Given the description of an element on the screen output the (x, y) to click on. 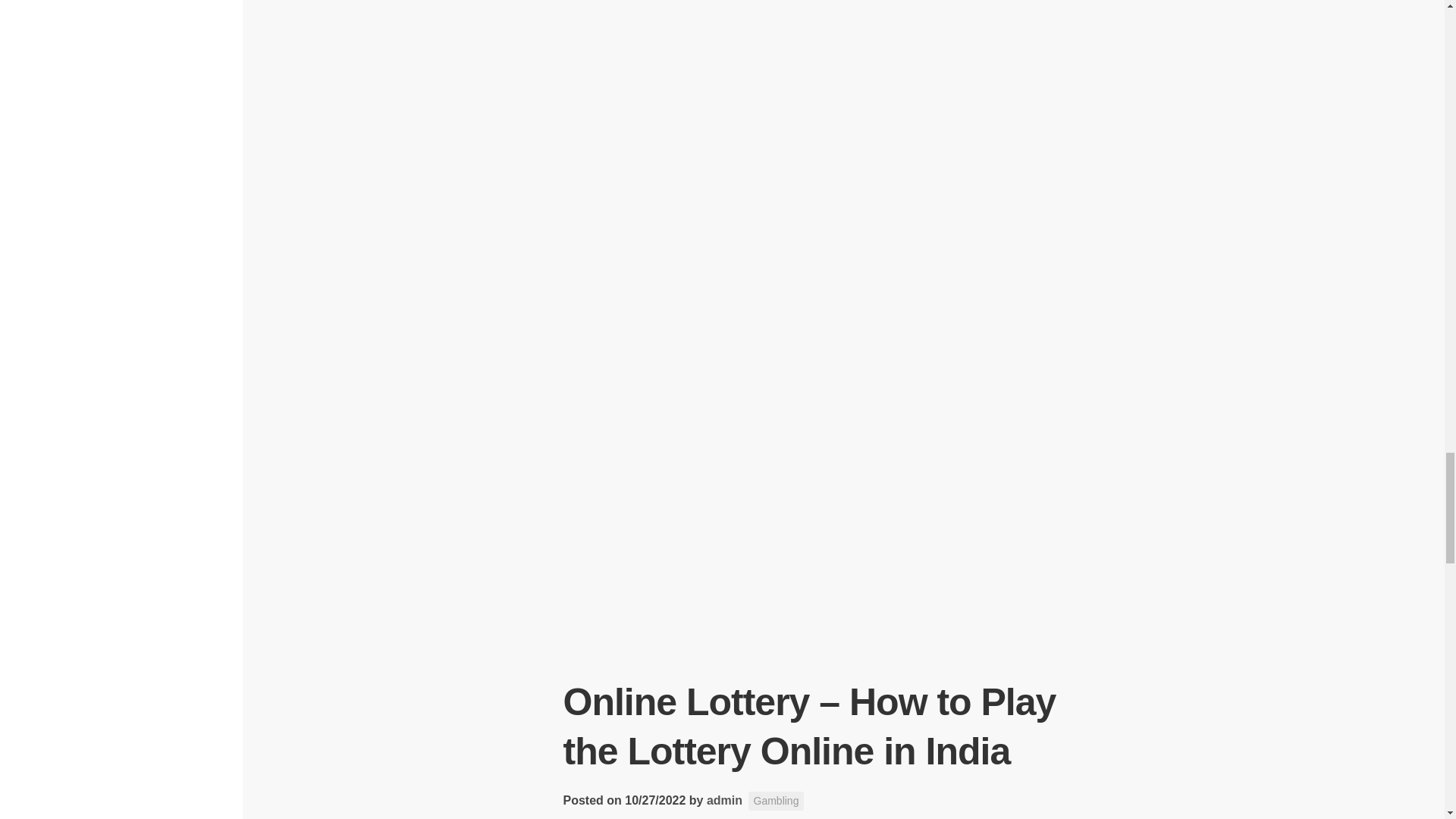
Gambling (776, 800)
Posts by admin (724, 799)
admin (724, 799)
